Given the description of an element on the screen output the (x, y) to click on. 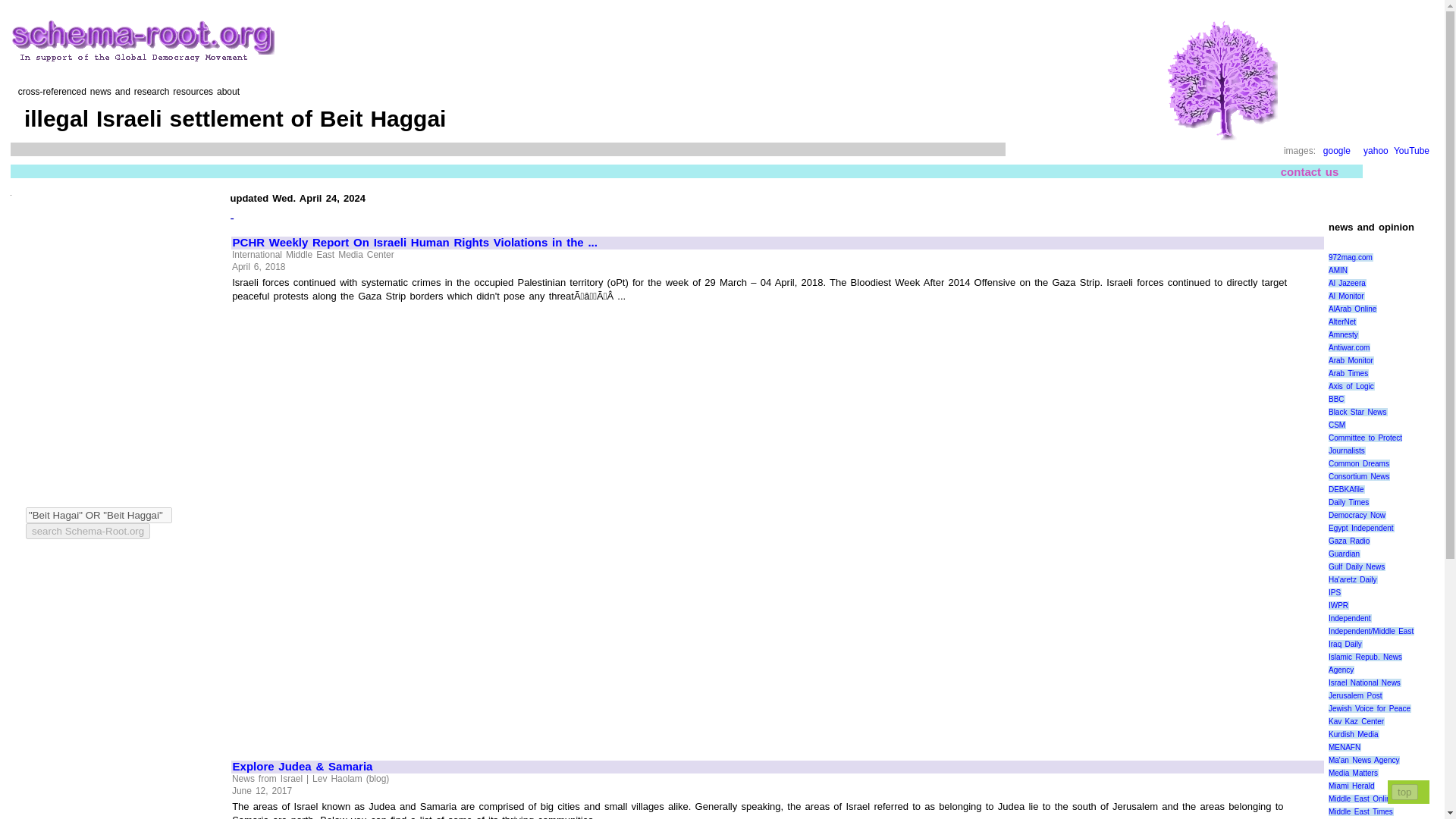
Islamic Repub. News Agency (1364, 663)
search YouTube for Beit Hagai (1411, 150)
"Beit Hagai" OR "Beit Haggai" (98, 514)
Antiwar.com (1348, 347)
search this site for Beit Hagai  (87, 530)
Consortium News (1358, 476)
Independent (1349, 618)
IWPR (1338, 605)
Amnesty (1342, 334)
Common Dreams (1358, 463)
